Given the description of an element on the screen output the (x, y) to click on. 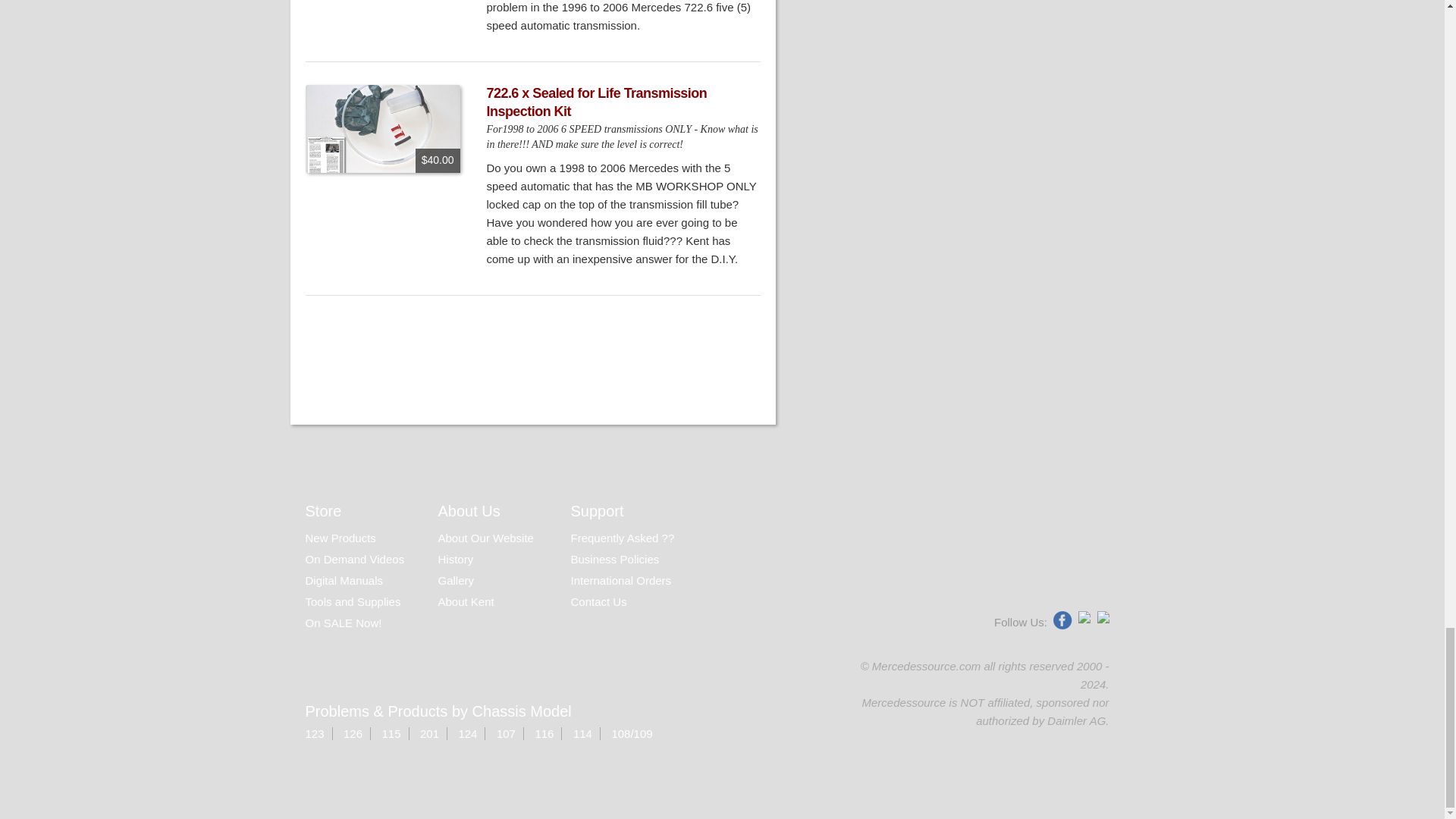
Business Policies (614, 558)
722.6 x Sealed for Life Transmission Inspection Kit (596, 101)
On SALE Now! (342, 622)
New Products (339, 537)
About Our Website (486, 537)
Gallery (456, 580)
On Demand Videos  (355, 558)
Digital Manuals (343, 580)
About Kent (466, 601)
History (456, 558)
